Given the description of an element on the screen output the (x, y) to click on. 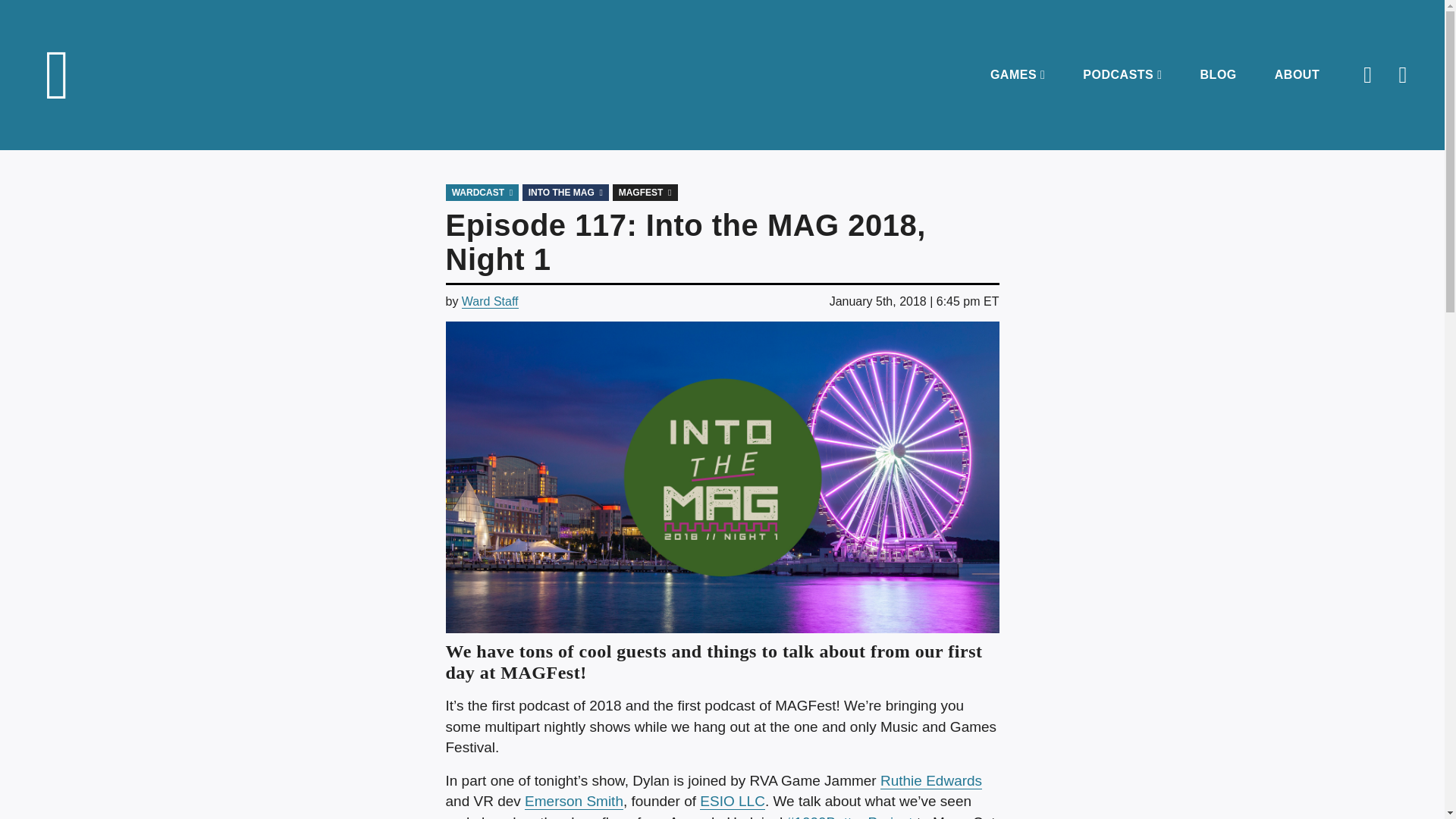
GAMES  (1017, 74)
 WARDCAST    (482, 192)
ABOUT (1297, 74)
Emerson Smith (573, 801)
Ruthie Edwards (930, 781)
ESIO LLC (732, 801)
 MAGFEST    (645, 192)
PODCASTS  (1121, 74)
Ward Staff (489, 301)
BLOG (1218, 74)
 INTO THE MAG    (565, 192)
